Given the description of an element on the screen output the (x, y) to click on. 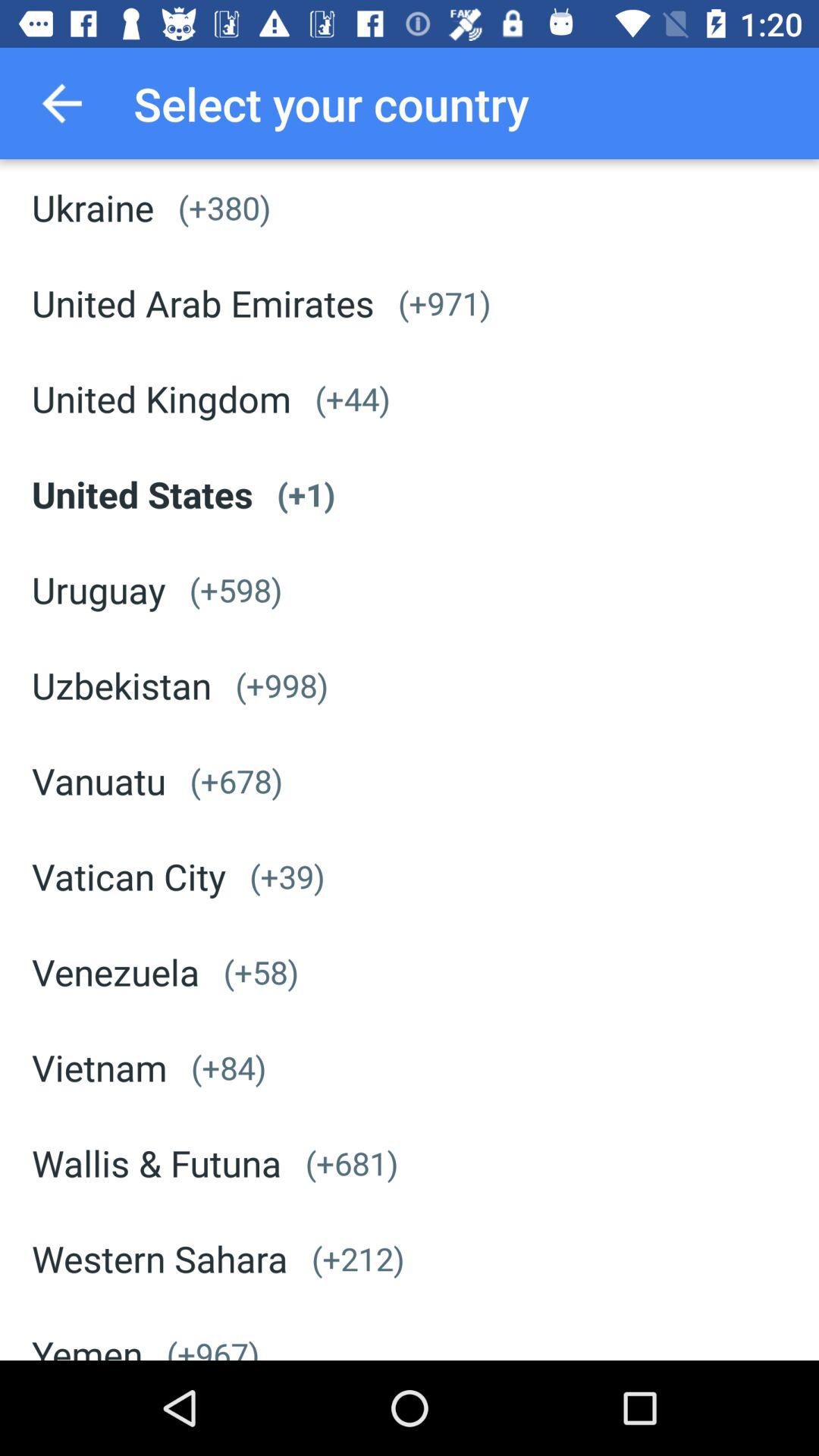
scroll until vatican city (128, 875)
